Given the description of an element on the screen output the (x, y) to click on. 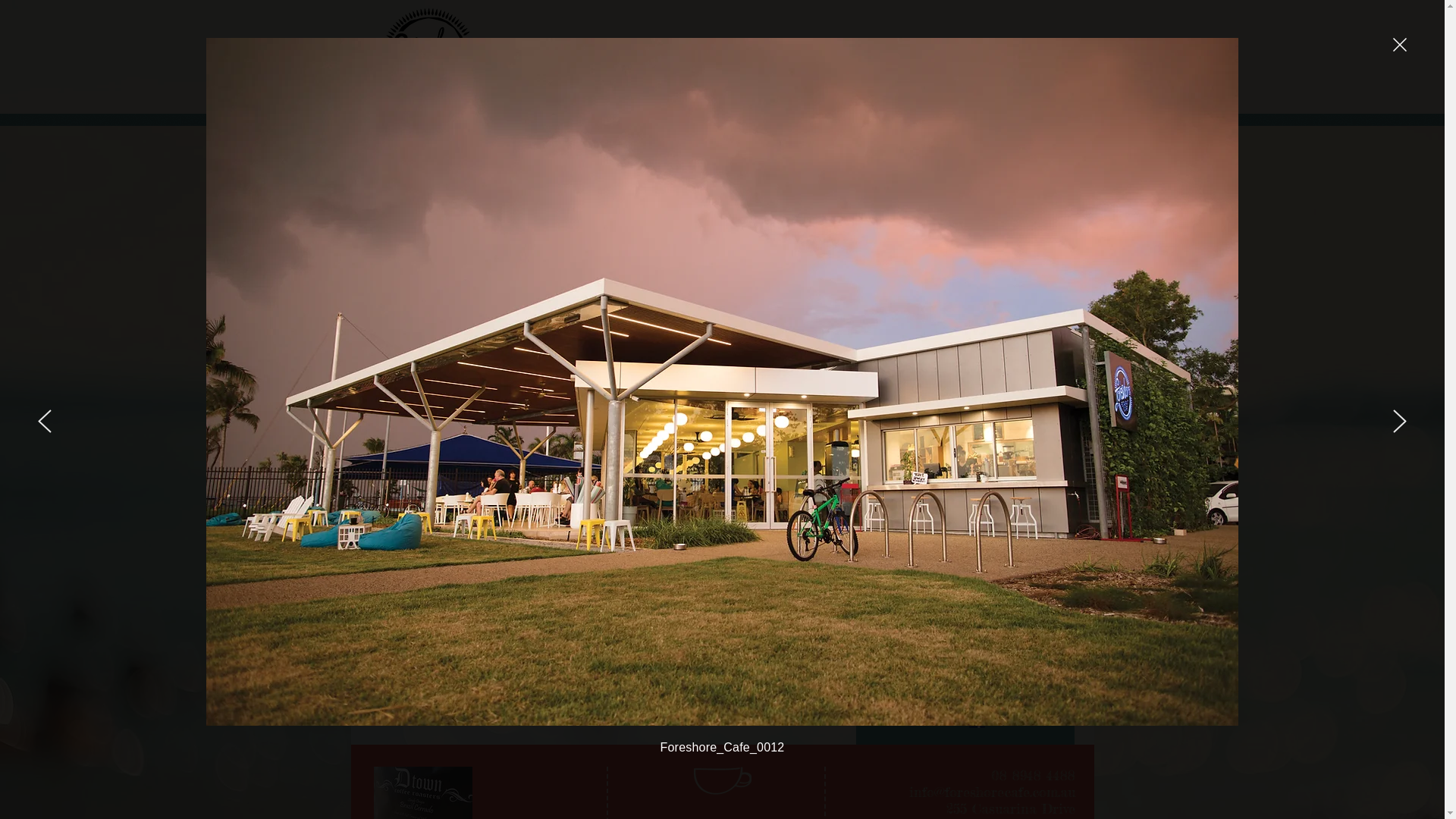
MENU Element type: text (789, 81)
HOME Element type: text (600, 81)
CONTACT Element type: text (980, 81)
info@foreshorecafe.com.au Element type: text (991, 791)
